Given the description of an element on the screen output the (x, y) to click on. 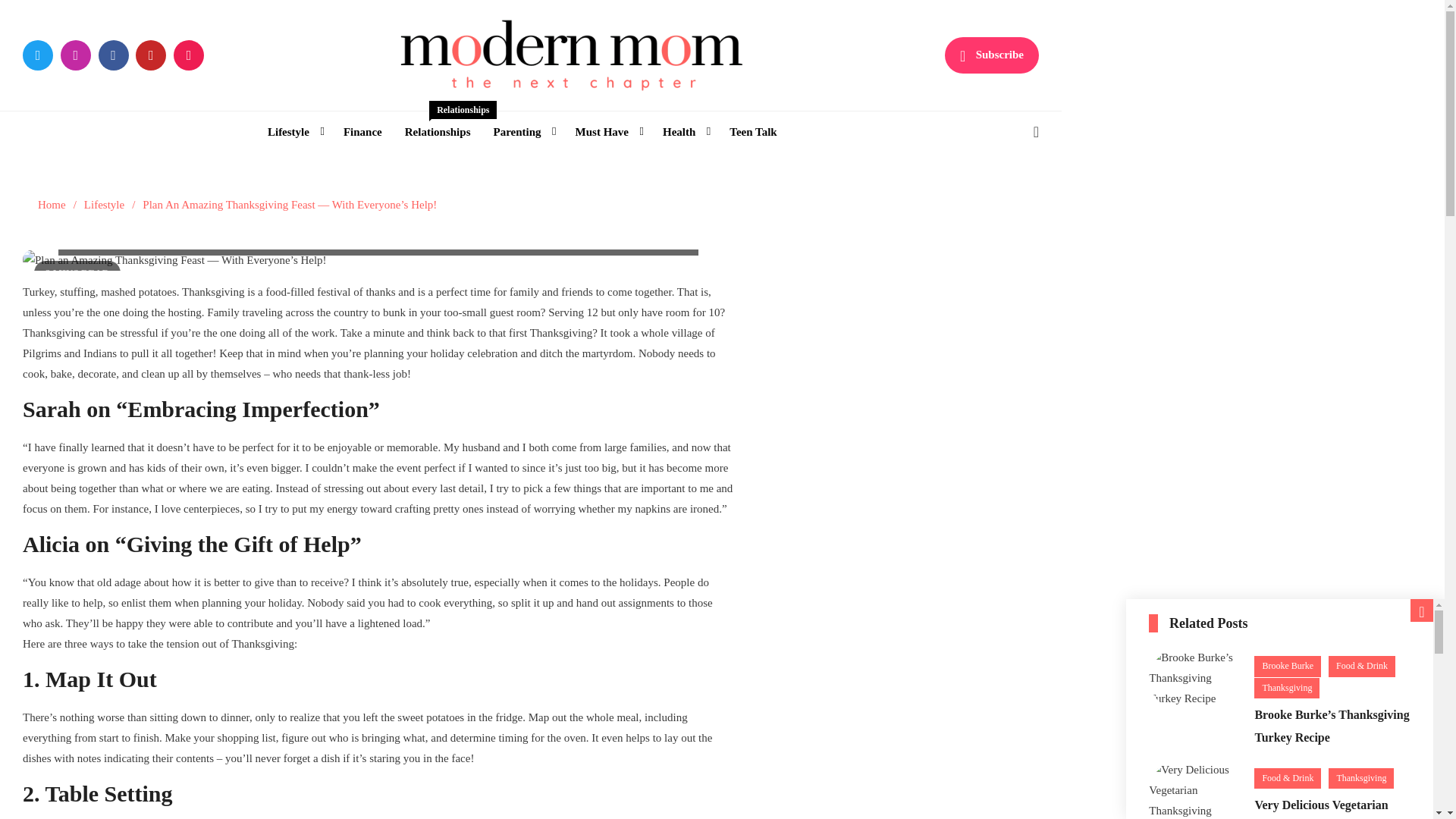
Parenting (522, 132)
Search (996, 195)
Home (51, 204)
Finance (362, 132)
Teen Talk (752, 132)
Subscribe (991, 54)
Must Have (607, 132)
ModernMom (456, 115)
Lifestyle (437, 132)
Health (293, 132)
